Given the description of an element on the screen output the (x, y) to click on. 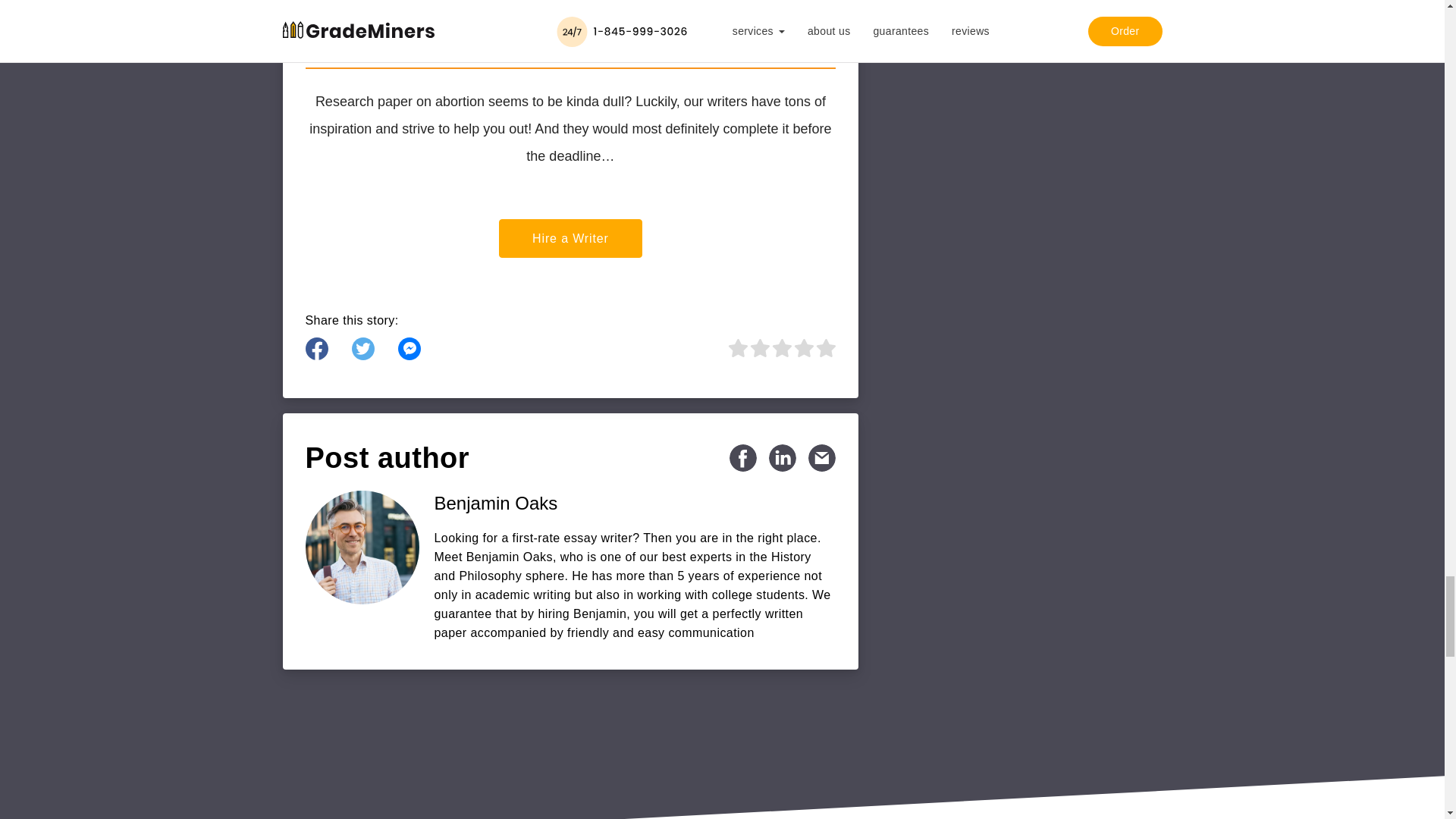
4 Stars (802, 348)
3 Stars (781, 348)
Share on Messenger (408, 348)
Posts by Benjamin Oaks (634, 503)
Share on Facebook (315, 348)
1 Star (736, 348)
Tweet this (363, 348)
5 Stars (824, 348)
2 Stars (759, 348)
